Given the description of an element on the screen output the (x, y) to click on. 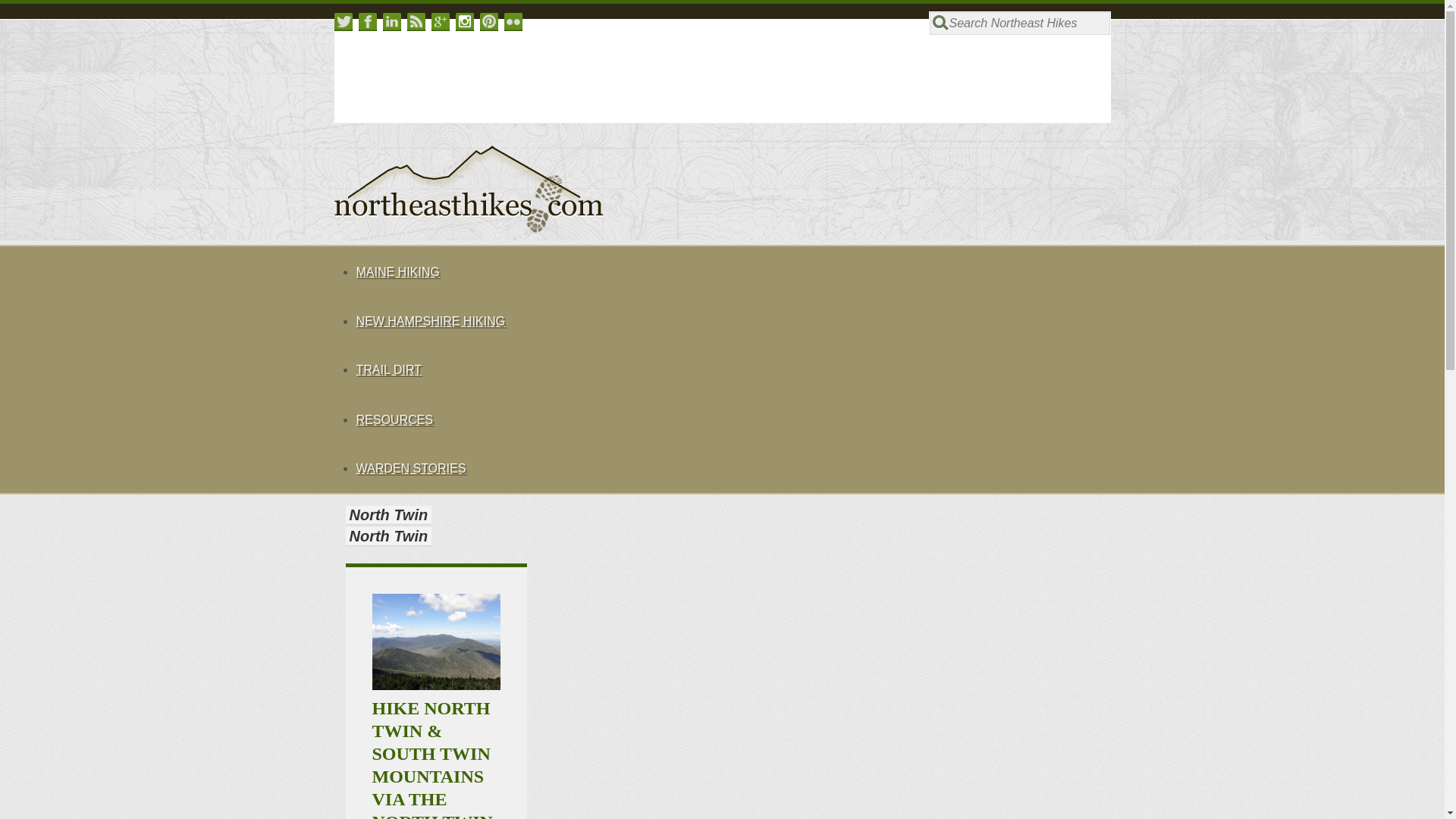
Advertisement (671, 68)
RESOURCES (732, 418)
NEW HAMPSHIRE HIKING (732, 319)
TRAIL DIRT (388, 369)
MAINE HIKING (732, 270)
